Given the description of an element on the screen output the (x, y) to click on. 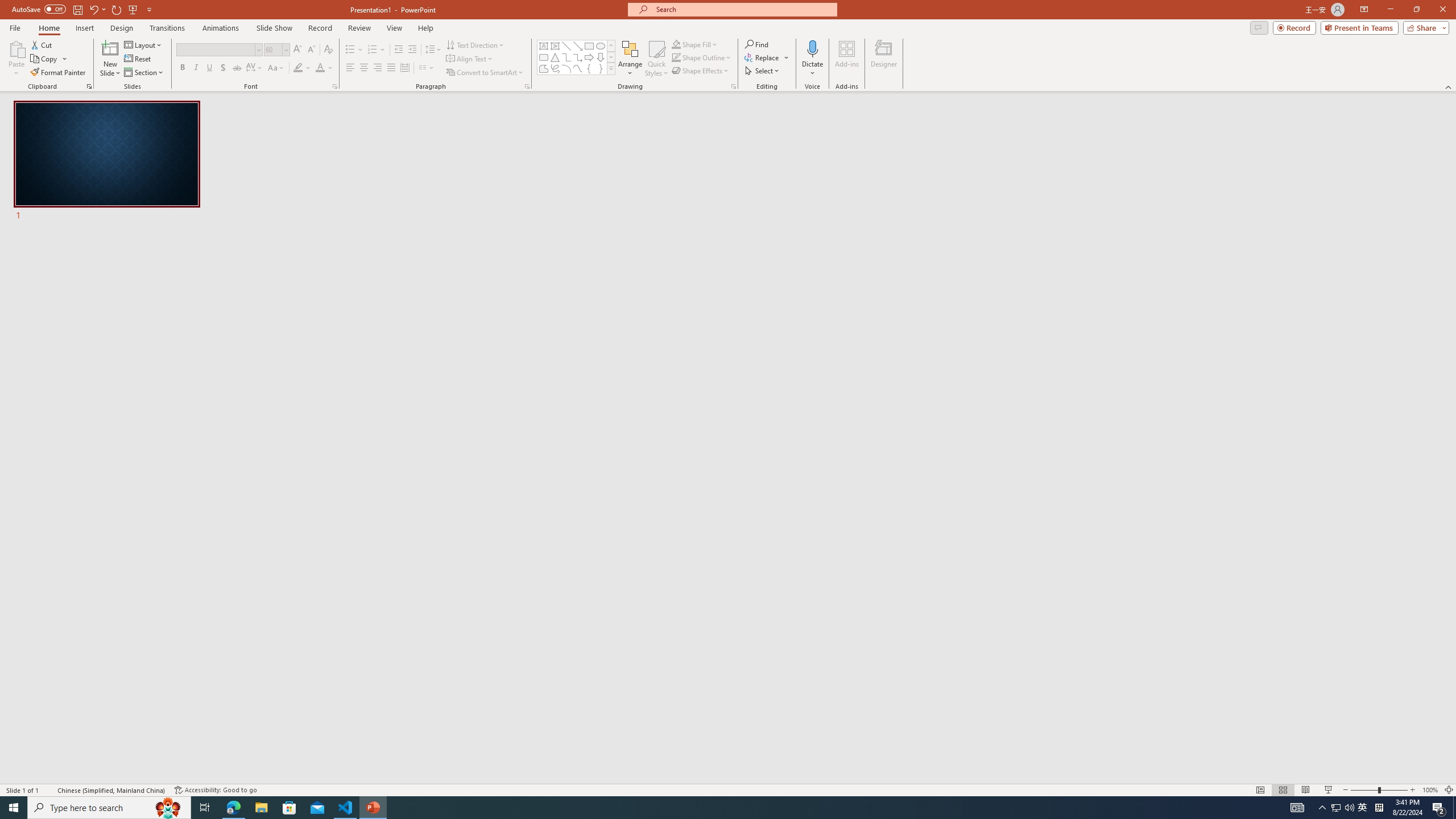
Paragraph... (526, 85)
Design (122, 28)
Arrow: Right (589, 57)
Left Brace (589, 68)
Italic (195, 67)
View (395, 28)
Reading View (1305, 790)
Line (566, 45)
Reset (138, 58)
Bold (182, 67)
Slide Show (1328, 790)
Zoom Out (1364, 790)
Undo (92, 9)
Shape Fill Orange, Accent 2 (675, 44)
